Given the description of an element on the screen output the (x, y) to click on. 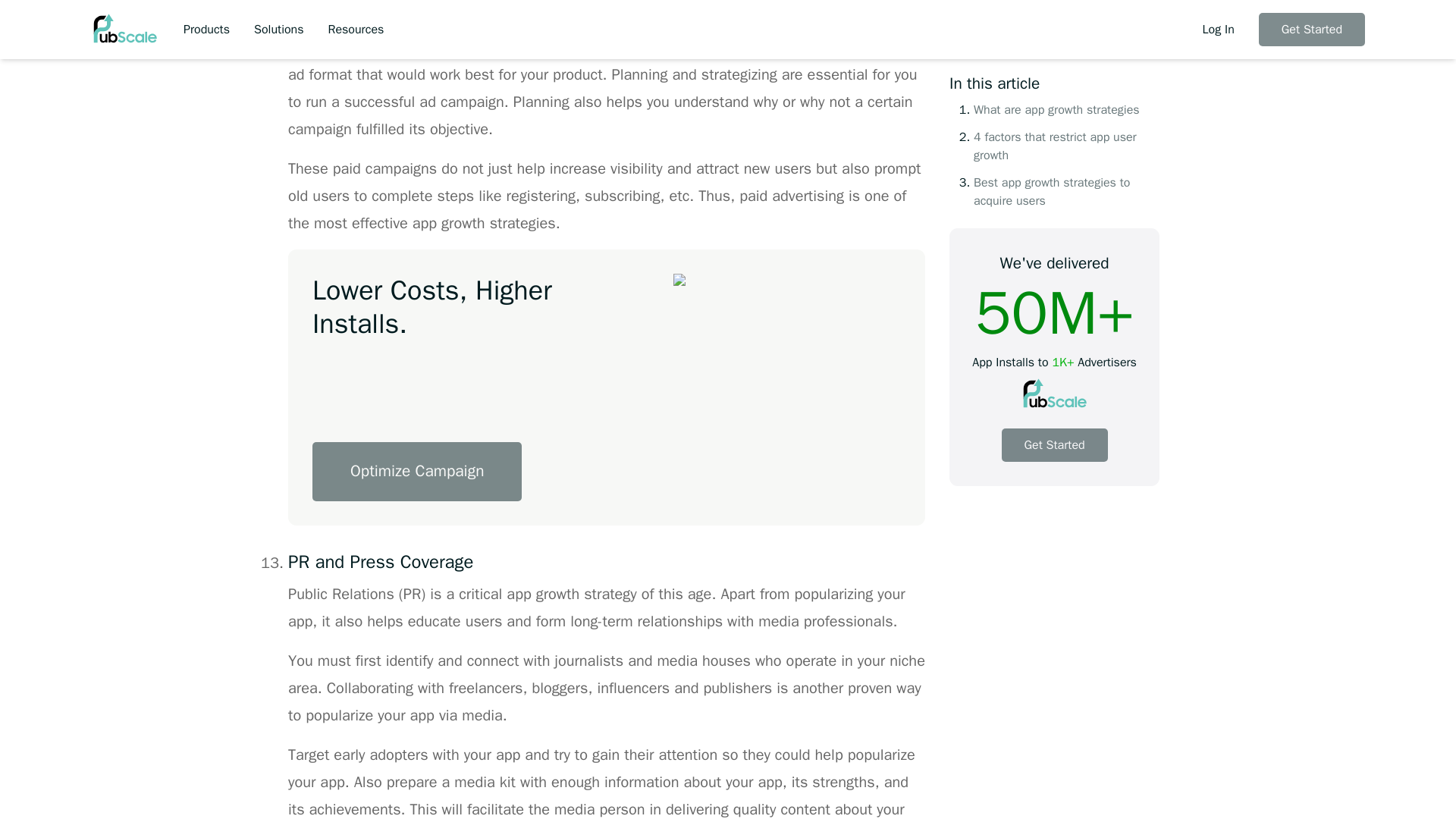
Blog CTA Image (805, 387)
Optimize Campaign (417, 471)
